Given the description of an element on the screen output the (x, y) to click on. 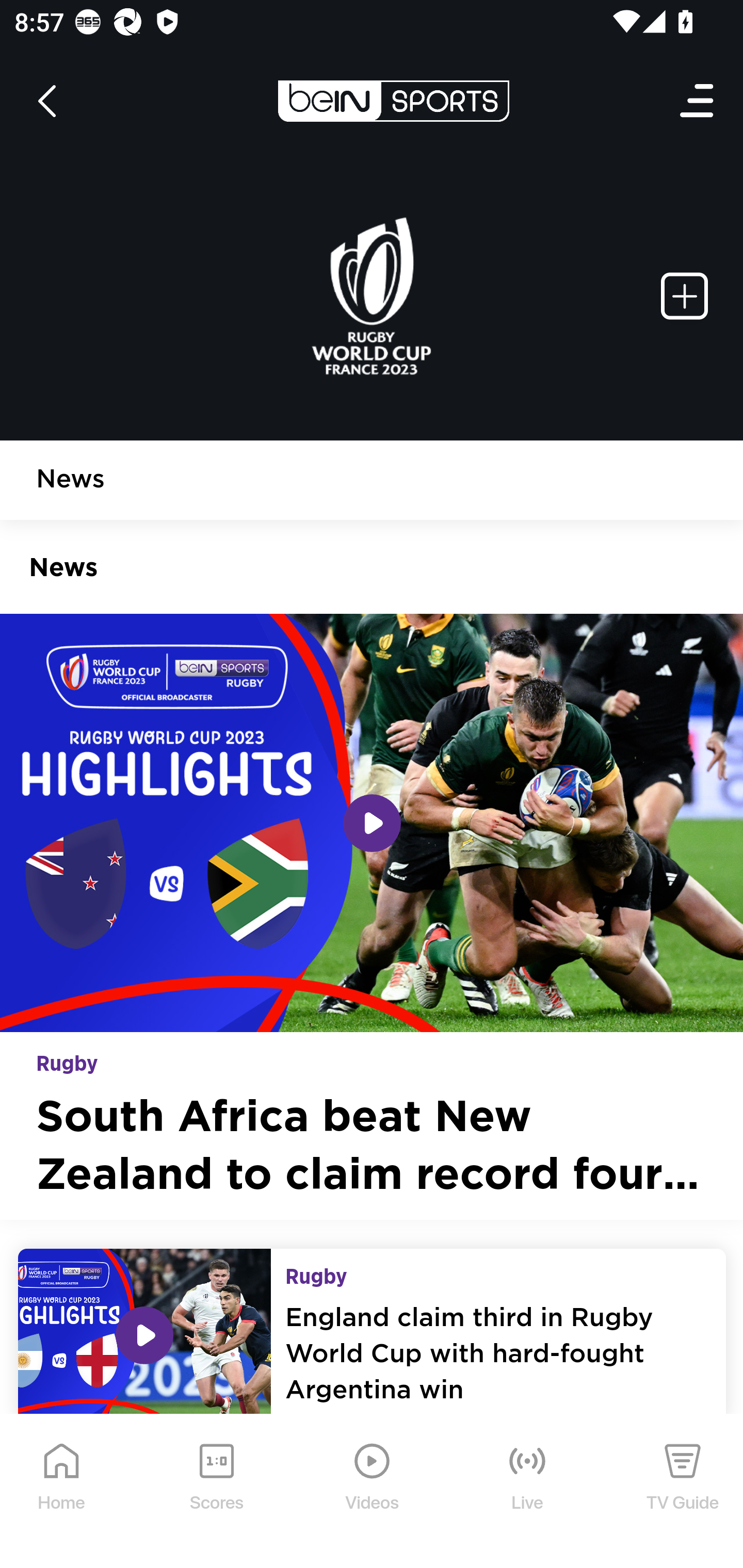
en-my?platform=mobile_android bein logo white (392, 101)
icon back (46, 101)
Open Menu Icon (697, 101)
News (70, 480)
Home Home Icon Home (61, 1491)
Scores Scores Icon Scores (216, 1491)
Videos Videos Icon Videos (372, 1491)
TV Guide TV Guide Icon TV Guide (682, 1491)
